Given the description of an element on the screen output the (x, y) to click on. 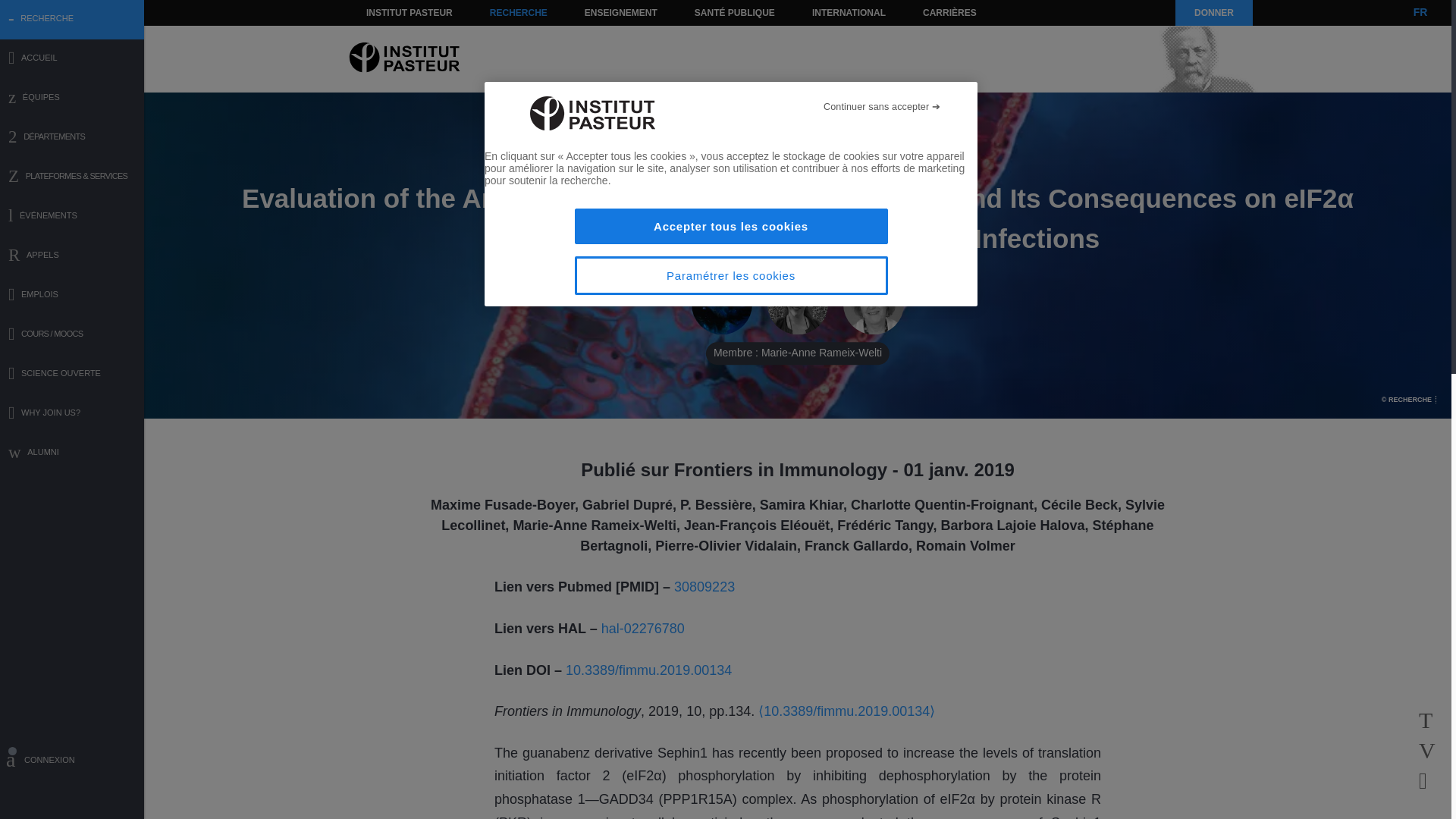
RECHERCHE (518, 12)
30809223 (704, 586)
WHY JOIN US? (72, 413)
Membre : Marie-Anne Rameix-Welti (797, 304)
EMPLOIS (72, 296)
FR (1419, 11)
Aller au contenu (391, 11)
SCIENCE OUVERTE (72, 374)
CONNEXION (72, 762)
ALUMNI (72, 454)
ENSEIGNEMENT (620, 12)
hal-02276780 (642, 628)
ACCUEIL (72, 59)
DONNER (1213, 12)
INTERNATIONAL (848, 12)
